Given the description of an element on the screen output the (x, y) to click on. 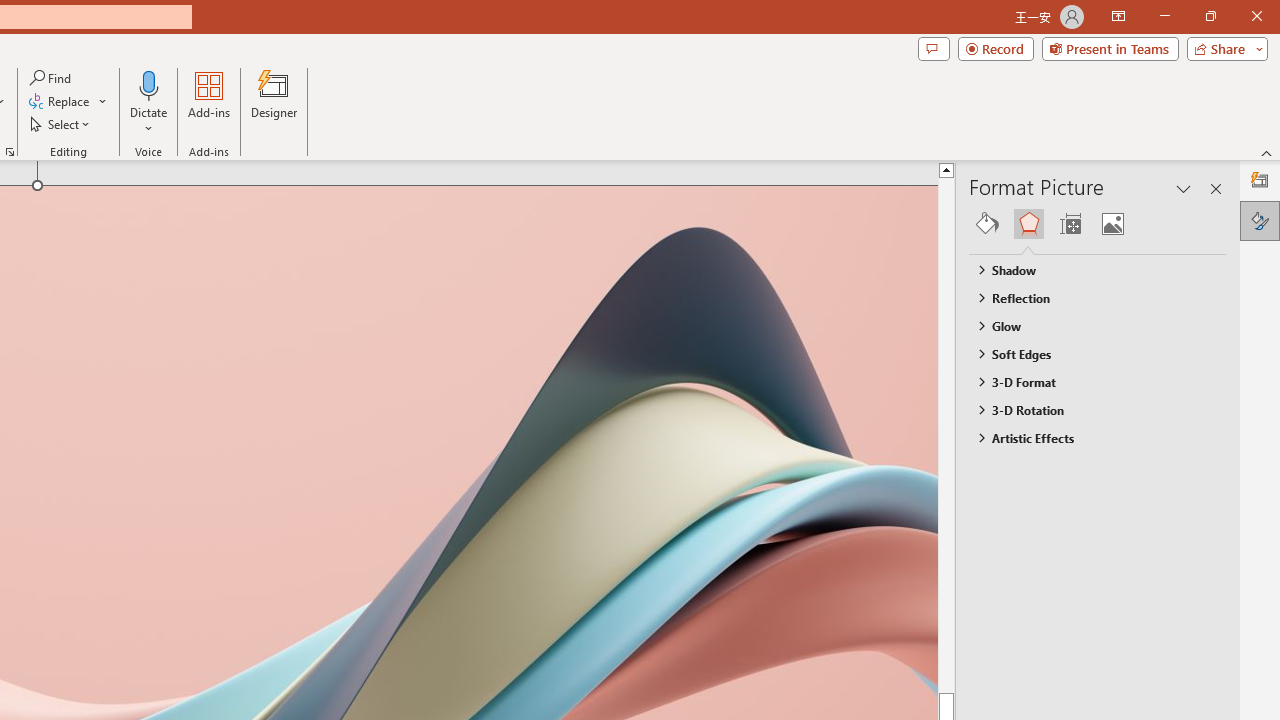
Picture (1112, 223)
3-D Format (1088, 381)
Size & Properties (1070, 223)
Effects (1028, 223)
Reflection (1088, 297)
3-D Rotation (1088, 410)
Glow (1088, 325)
